Given the description of an element on the screen output the (x, y) to click on. 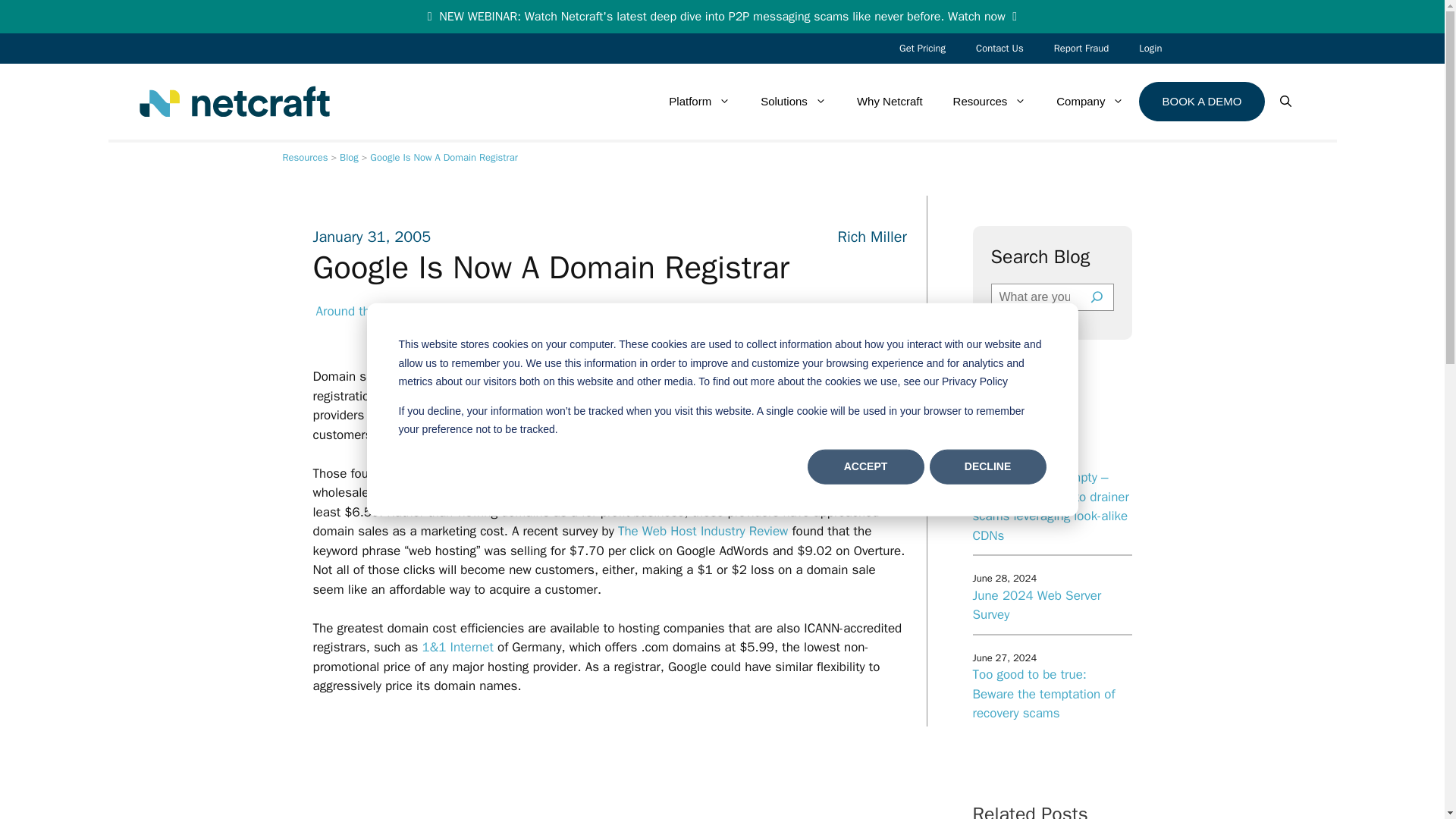
Contact Us (999, 48)
Share on Email (887, 321)
Share on Twitter (806, 321)
Get Pricing (921, 48)
Solutions (793, 101)
Platform (699, 101)
Share on Facebook (767, 321)
Blog (348, 156)
Share on LinkedIn (847, 321)
Resources (304, 156)
Report Fraud (1081, 48)
Login (1150, 48)
